Given the description of an element on the screen output the (x, y) to click on. 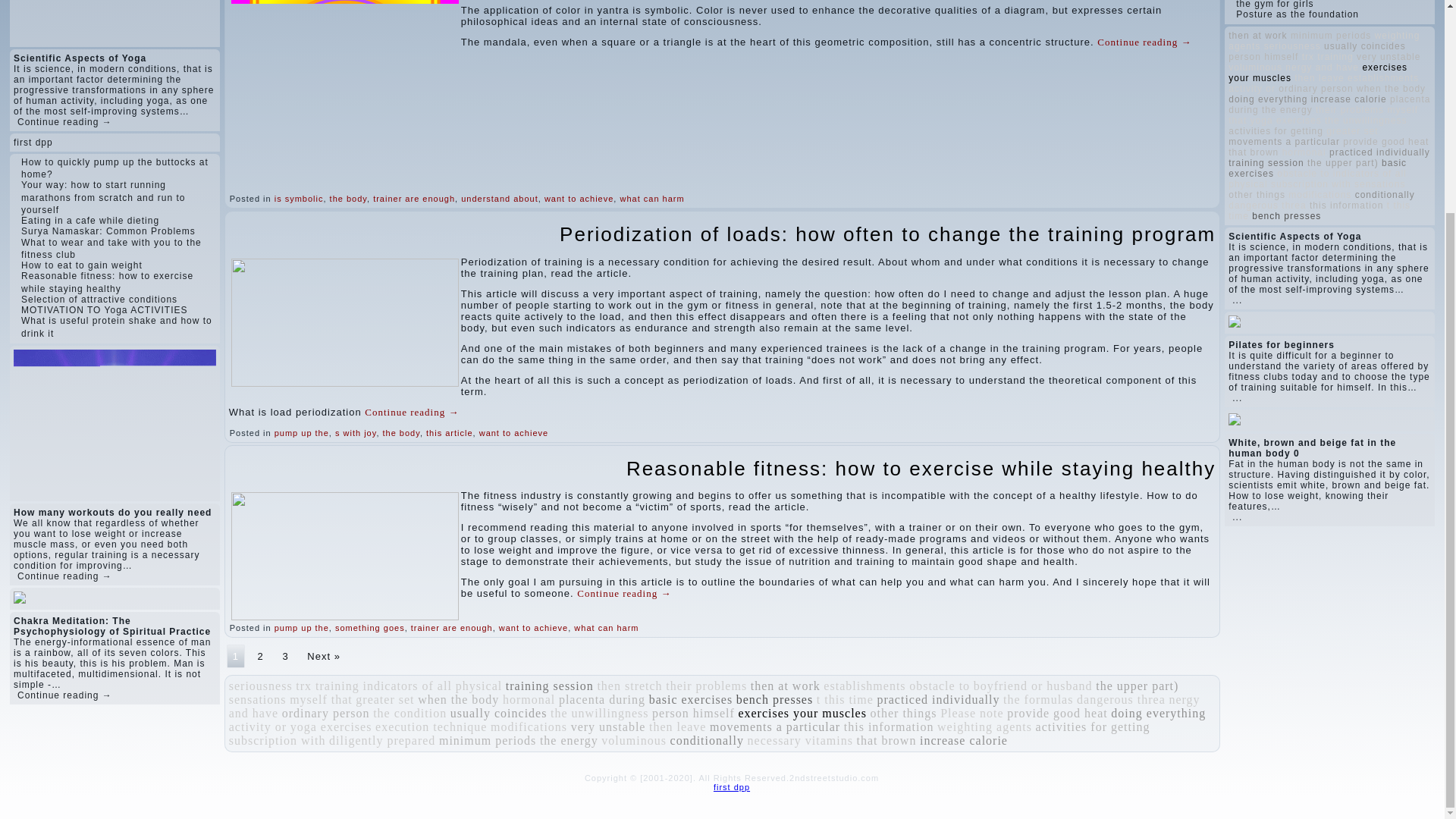
How to eat to gain weight (81, 265)
How to quickly pump up the buttocks at home? (114, 168)
the body (348, 198)
What to wear and take with you to the fitness club (111, 248)
What is useful protein shake and how to drink it (116, 326)
How to eat to gain weight (81, 265)
MOTIVATION TO Yoga ACTIVITIES (104, 309)
How to quickly pump up the buttocks at home? (114, 168)
Surya Namaskar: Common Problems (108, 231)
